Given the description of an element on the screen output the (x, y) to click on. 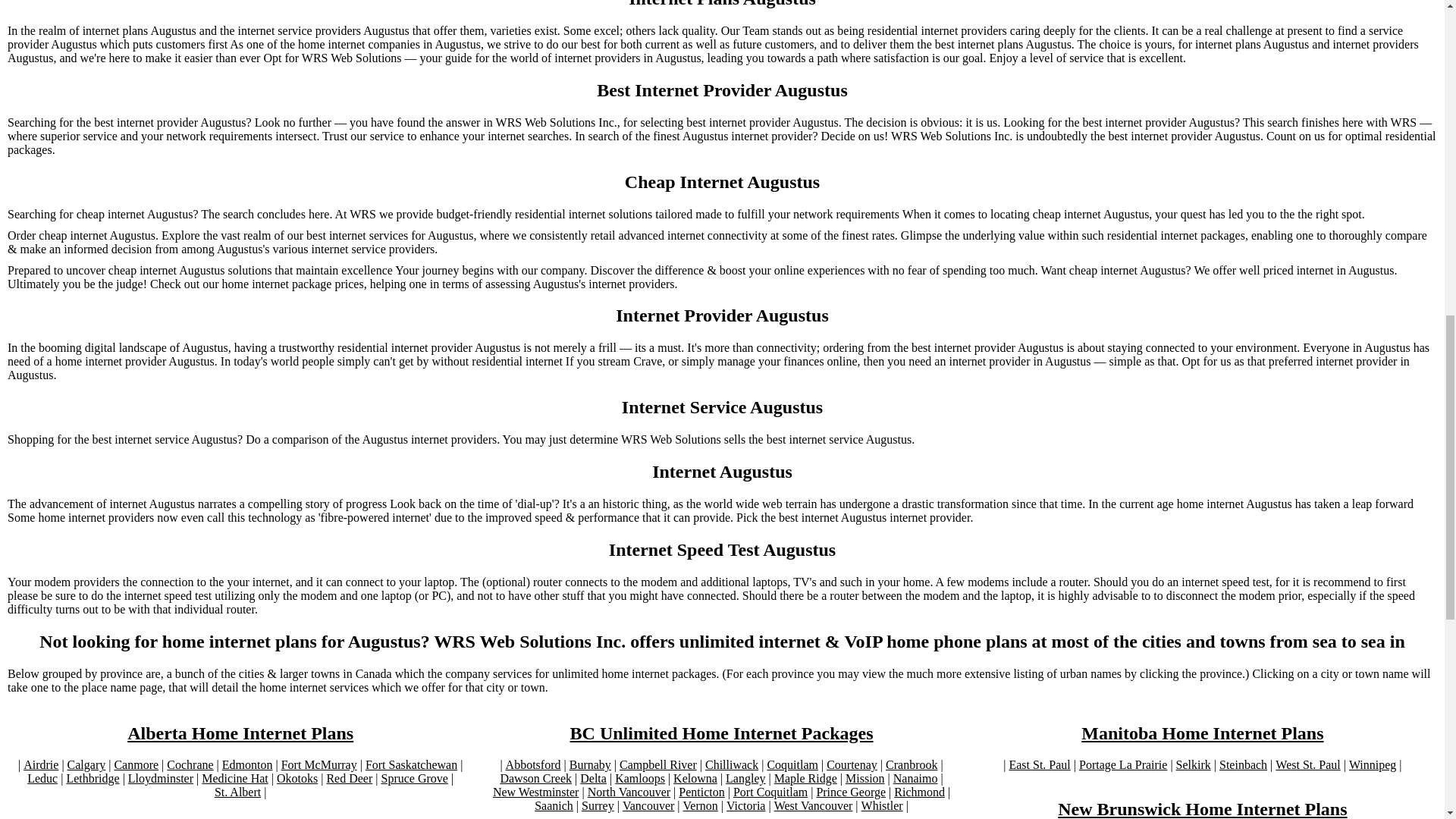
Okotoks (296, 778)
Burnaby (590, 765)
Calgary (86, 765)
Fort Saskatchewan (411, 765)
Chilliwack (731, 765)
Alberta Home Internet Plans (240, 733)
Leduc (42, 778)
St. Albert (237, 792)
BC Unlimited Home Internet Packages (721, 733)
Airdrie (40, 765)
